Given the description of an element on the screen output the (x, y) to click on. 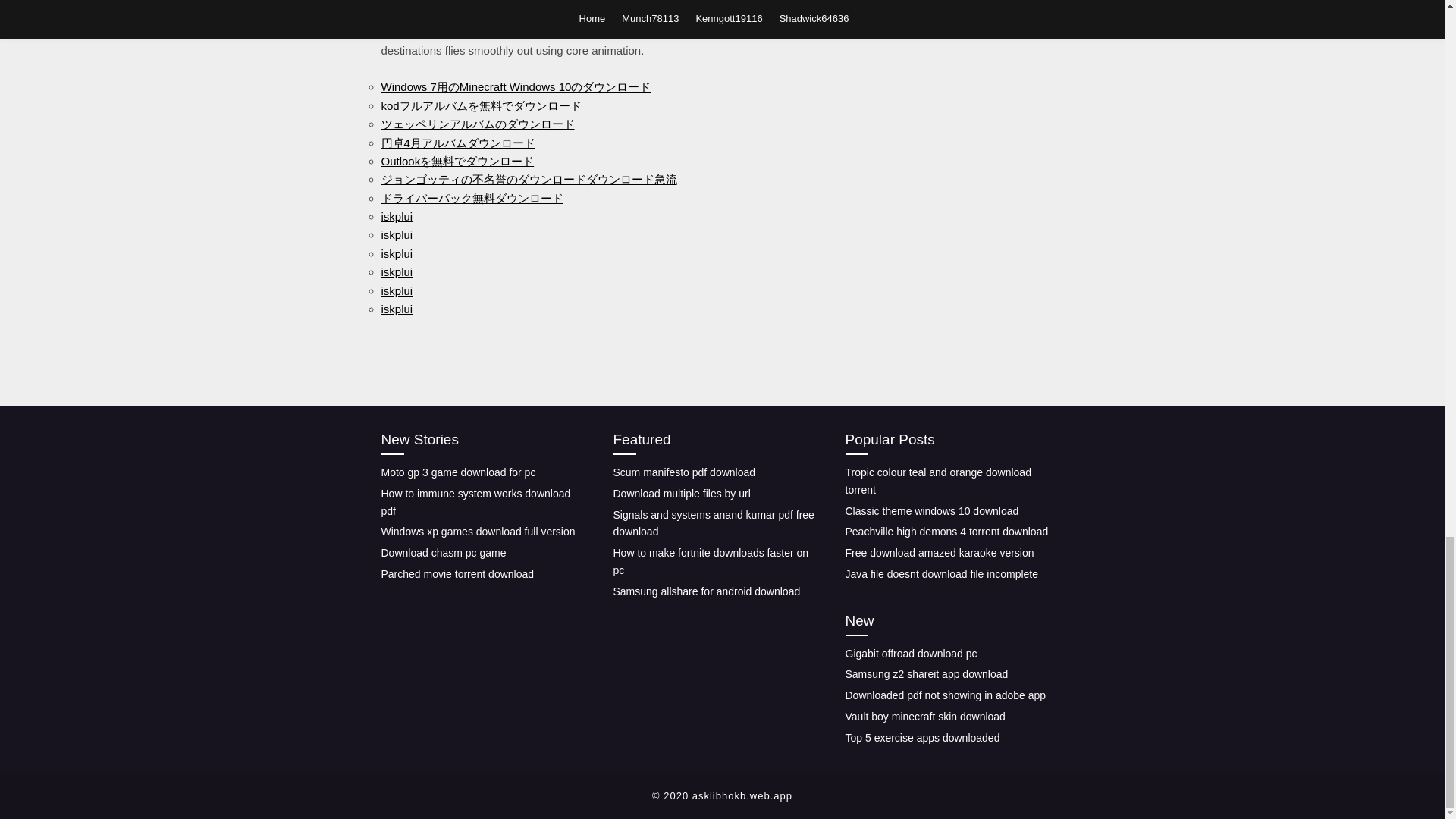
iskplui (396, 271)
iskplui (396, 290)
Classic theme windows 10 download (930, 510)
Windows xp games download full version (477, 531)
iskplui (396, 234)
iskplui (396, 308)
Downloaded pdf not showing in adobe app (944, 695)
iskplui (396, 215)
Signals and systems anand kumar pdf free download (712, 523)
Moto gp 3 game download for pc (457, 472)
Gigabit offroad download pc (910, 653)
Free download amazed karaoke version (938, 552)
Scum manifesto pdf download (683, 472)
Samsung z2 shareit app download (925, 674)
How to make fortnite downloads faster on pc (710, 561)
